Given the description of an element on the screen output the (x, y) to click on. 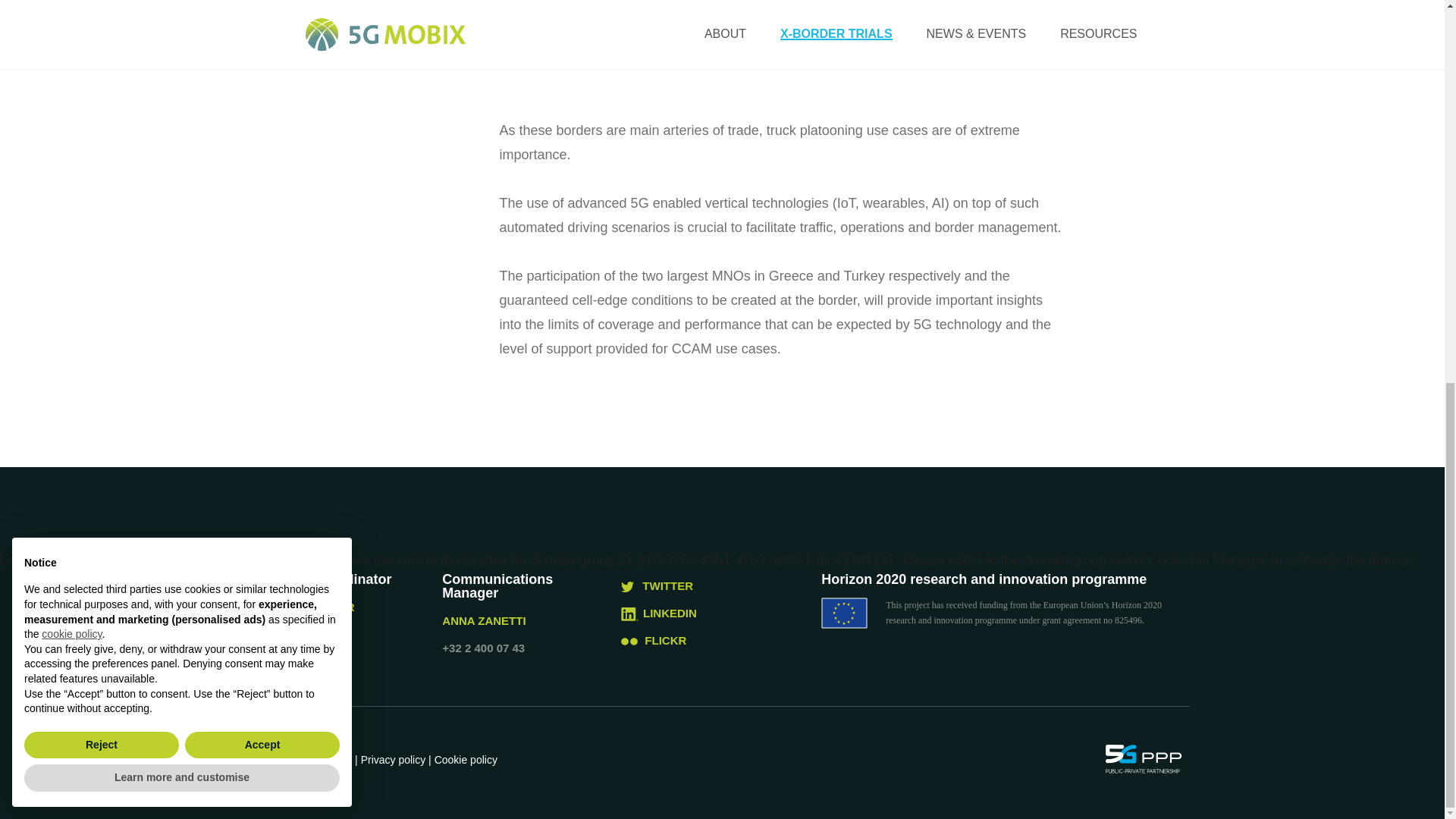
Cookie policy (465, 759)
COEN BRESSER (344, 606)
LINKEDIN (701, 613)
Learn more and customise (181, 61)
Accept (261, 28)
Privacy policy (393, 759)
Mail Coen Bresser (344, 606)
Reject (101, 28)
ANNA ZANETTI (522, 620)
TWITTER (701, 585)
Call Coen Bresser (344, 634)
5G-Mobix on LinkedIn (701, 613)
Call Anna Zanetti (522, 647)
Mail Anna Zanetti (522, 620)
FLICKR (701, 640)
